Given the description of an element on the screen output the (x, y) to click on. 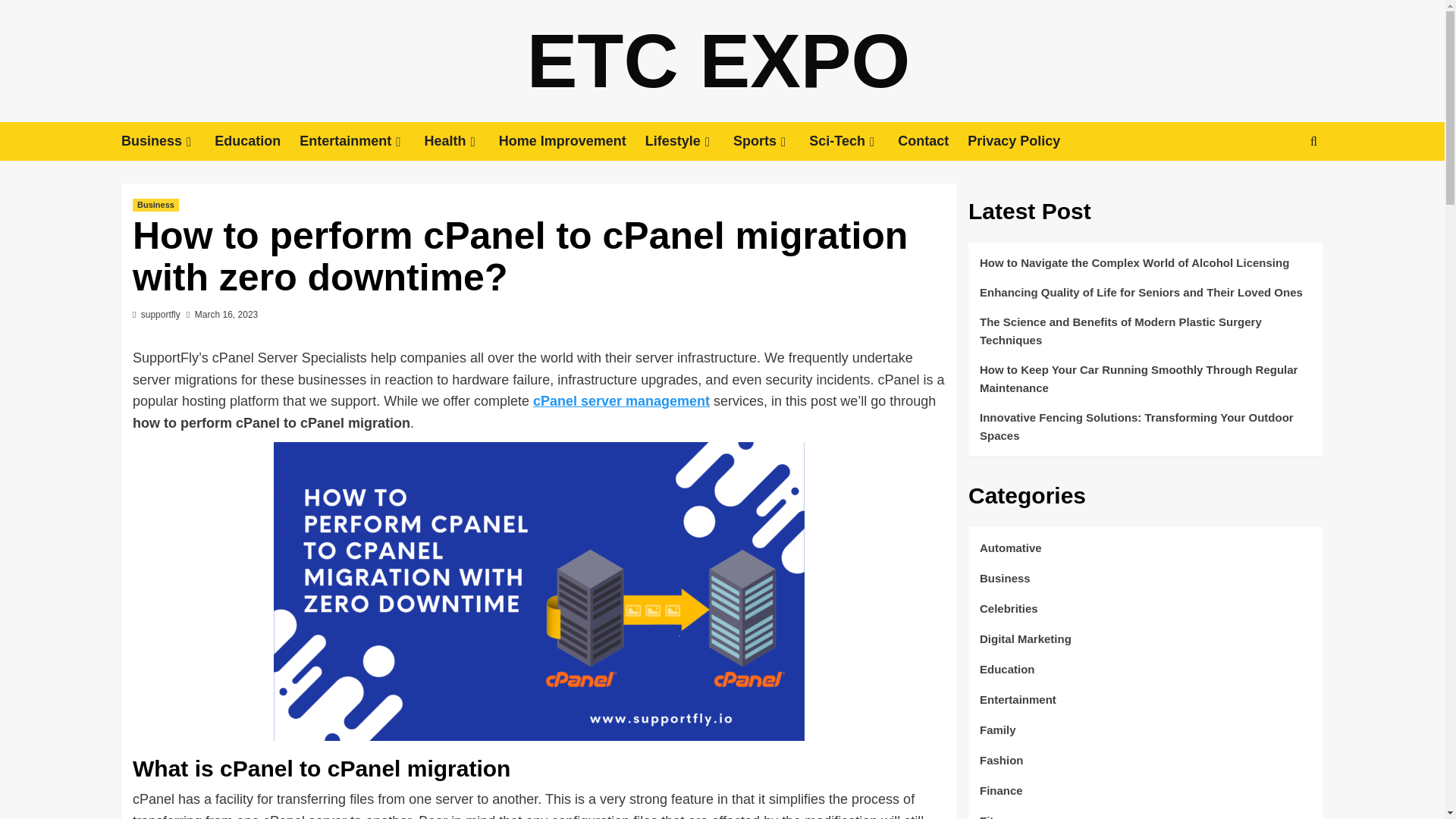
Business (167, 141)
Privacy Policy (1023, 141)
ETC EXPO (719, 60)
Lifestyle (689, 141)
Home Improvement (572, 141)
Sci-Tech (853, 141)
Contact (933, 141)
Education (256, 141)
Health (462, 141)
Entertainment (361, 141)
